Given the description of an element on the screen output the (x, y) to click on. 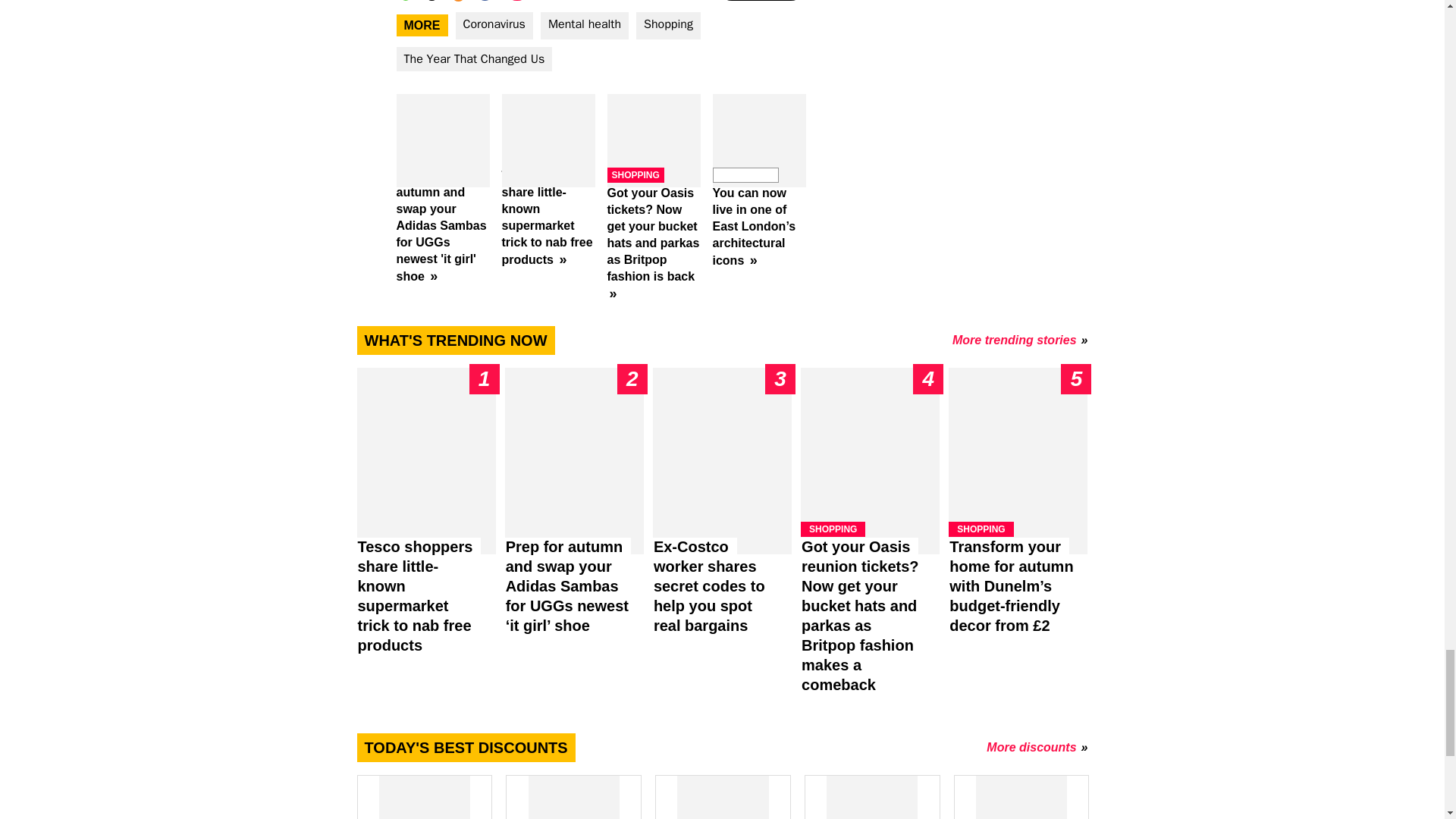
The Works (1020, 796)
Wayfair (872, 796)
Debenhams (423, 796)
PrettyLittleThing (722, 796)
